Given the description of an element on the screen output the (x, y) to click on. 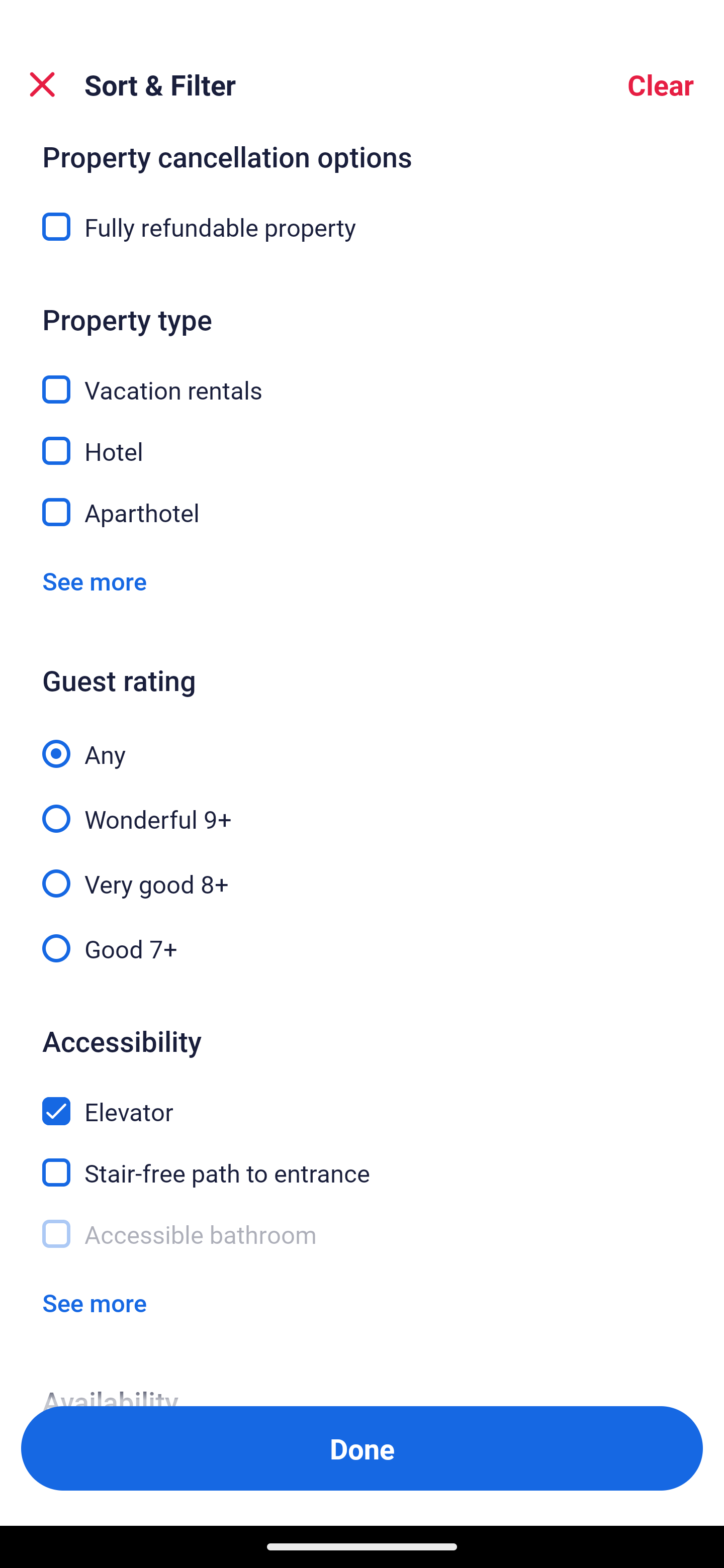
Close Sort and Filter (42, 84)
Clear (660, 84)
Vacation rentals, Vacation rentals (361, 378)
Hotel, Hotel (361, 439)
Aparthotel, Aparthotel (361, 512)
See more See more property types Link (93, 580)
Wonderful 9+ (361, 808)
Very good 8+ (361, 872)
Good 7+ (361, 946)
Elevator, Elevator (361, 1099)
Accessible bathroom, Accessible bathroom (361, 1233)
See more See more accessibility options Link (93, 1302)
Apply and close Sort and Filter Done (361, 1448)
